Given the description of an element on the screen output the (x, y) to click on. 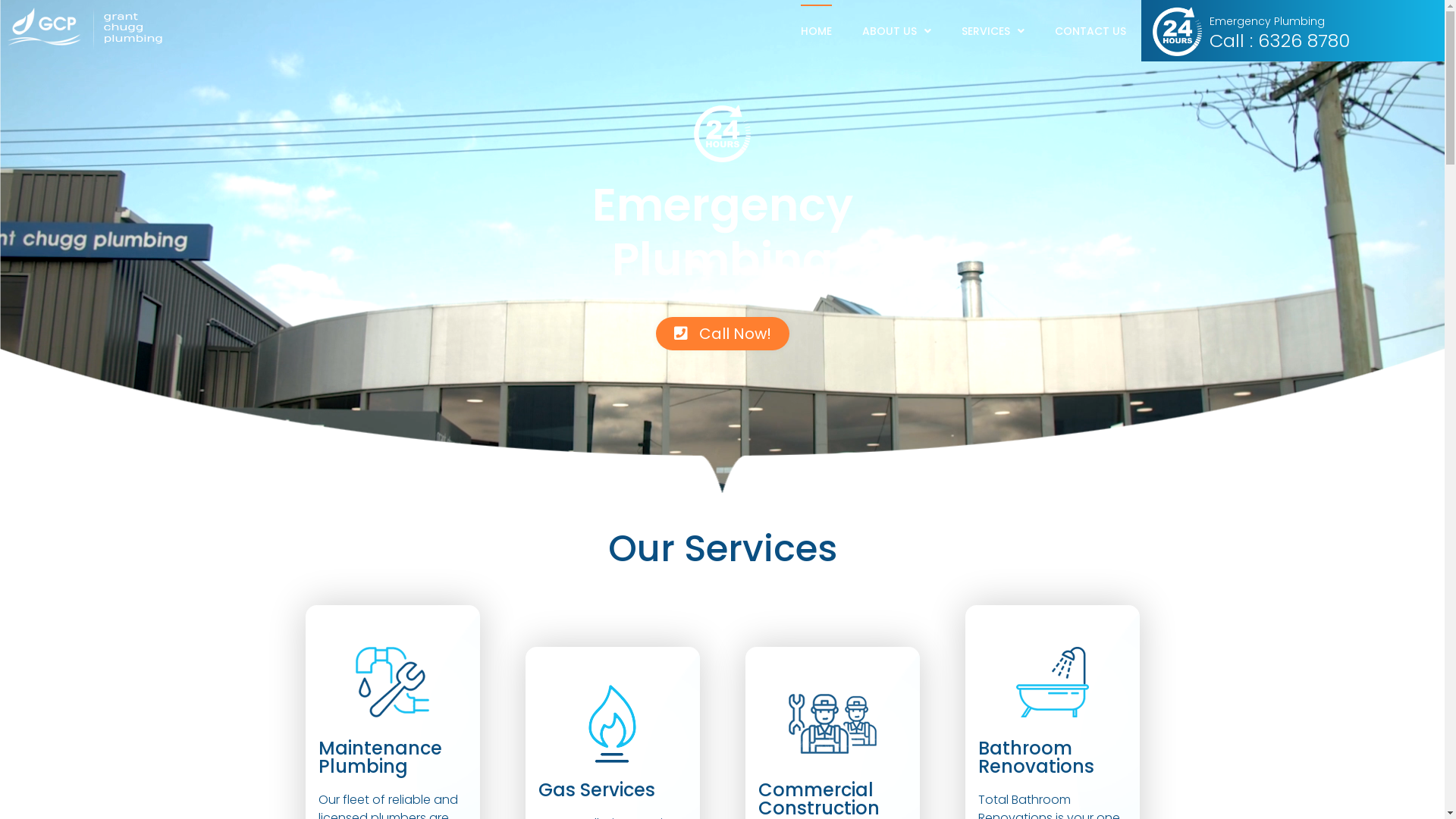
HOME Element type: text (815, 30)
CONTACT US Element type: text (1090, 30)
SERVICES Element type: text (992, 30)
Call Now! Element type: text (721, 333)
ABOUT US Element type: text (896, 30)
